Given the description of an element on the screen output the (x, y) to click on. 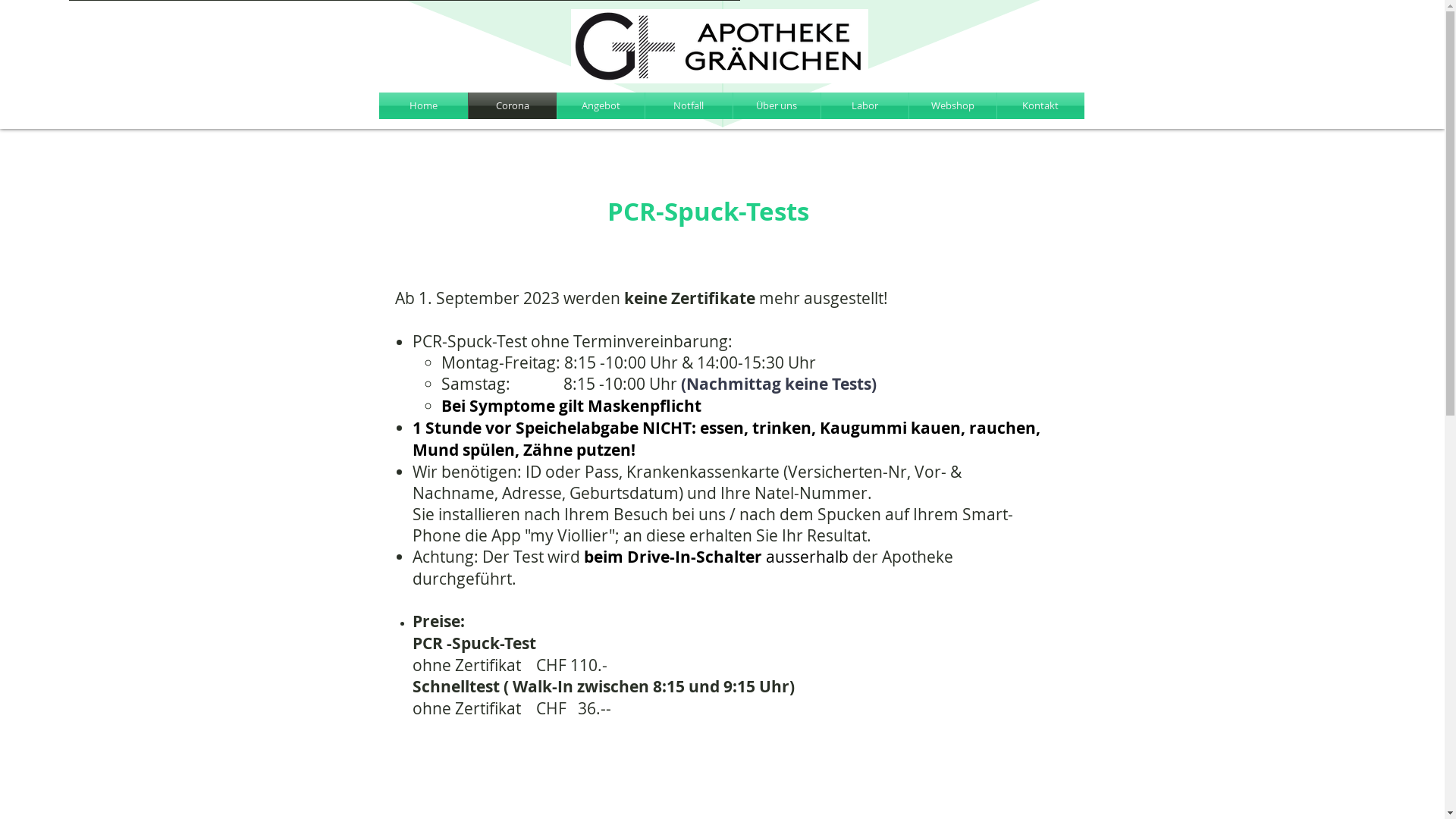
Angebot Element type: text (599, 105)
Corona Element type: text (512, 105)
Webshop Element type: text (951, 105)
Home Element type: text (423, 105)
Kontakt Element type: text (1039, 105)
Notfall Element type: text (687, 105)
Labor Element type: text (863, 105)
